Given the description of an element on the screen output the (x, y) to click on. 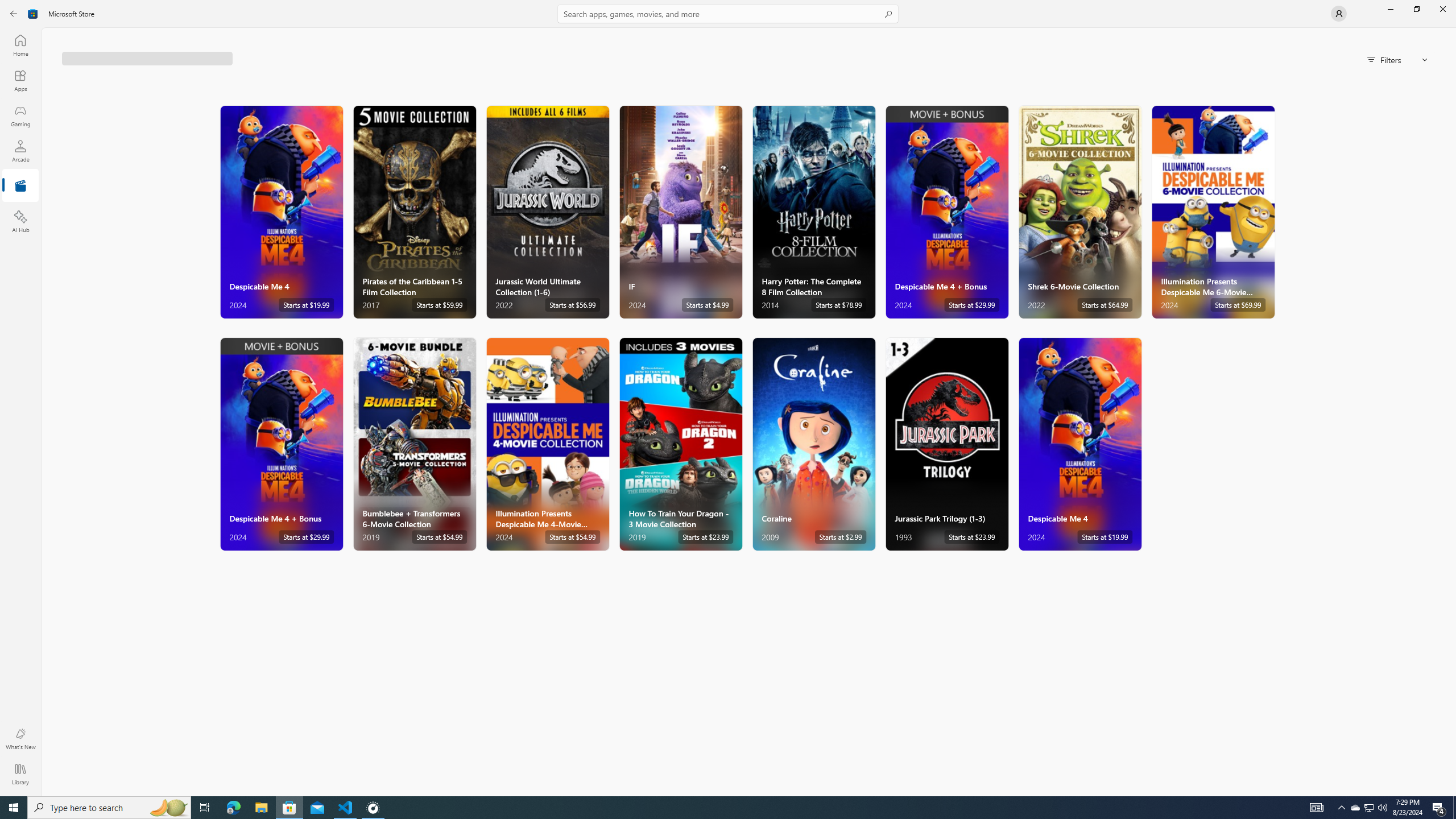
Vertical Small Increase (1452, 792)
Apps (20, 80)
Gaming (20, 115)
Entertainment (20, 185)
Arcade (20, 150)
Jurassic World Ultimate Collection (1-6). Starts at $56.99   (548, 211)
What's New (20, 738)
User profile (1338, 13)
Coraline. Starts at $2.99   (813, 444)
Restore Microsoft Store (1416, 9)
Close Microsoft Store (1442, 9)
Search (727, 13)
